Given the description of an element on the screen output the (x, y) to click on. 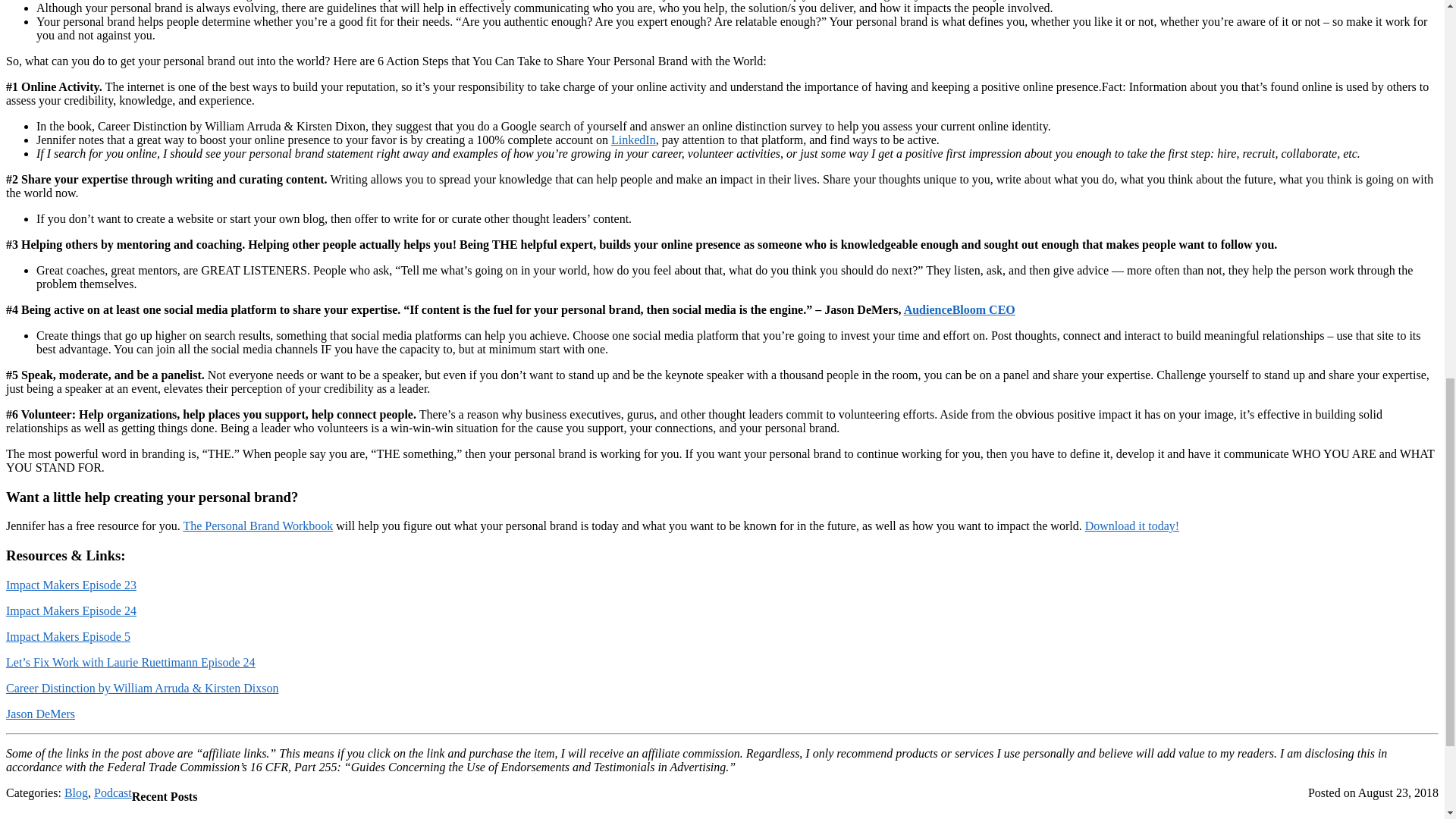
Impact Makers Episode 24 (70, 610)
Impact Makers Episode 23 (70, 584)
LinkedIn (633, 139)
AudienceBloom CEO (959, 309)
Blog (75, 792)
Download it today! (1131, 525)
Podcast (113, 792)
The Personal Brand Workbook (258, 525)
Impact Makers Episode 5 (68, 635)
Jason DeMers (40, 713)
